Given the description of an element on the screen output the (x, y) to click on. 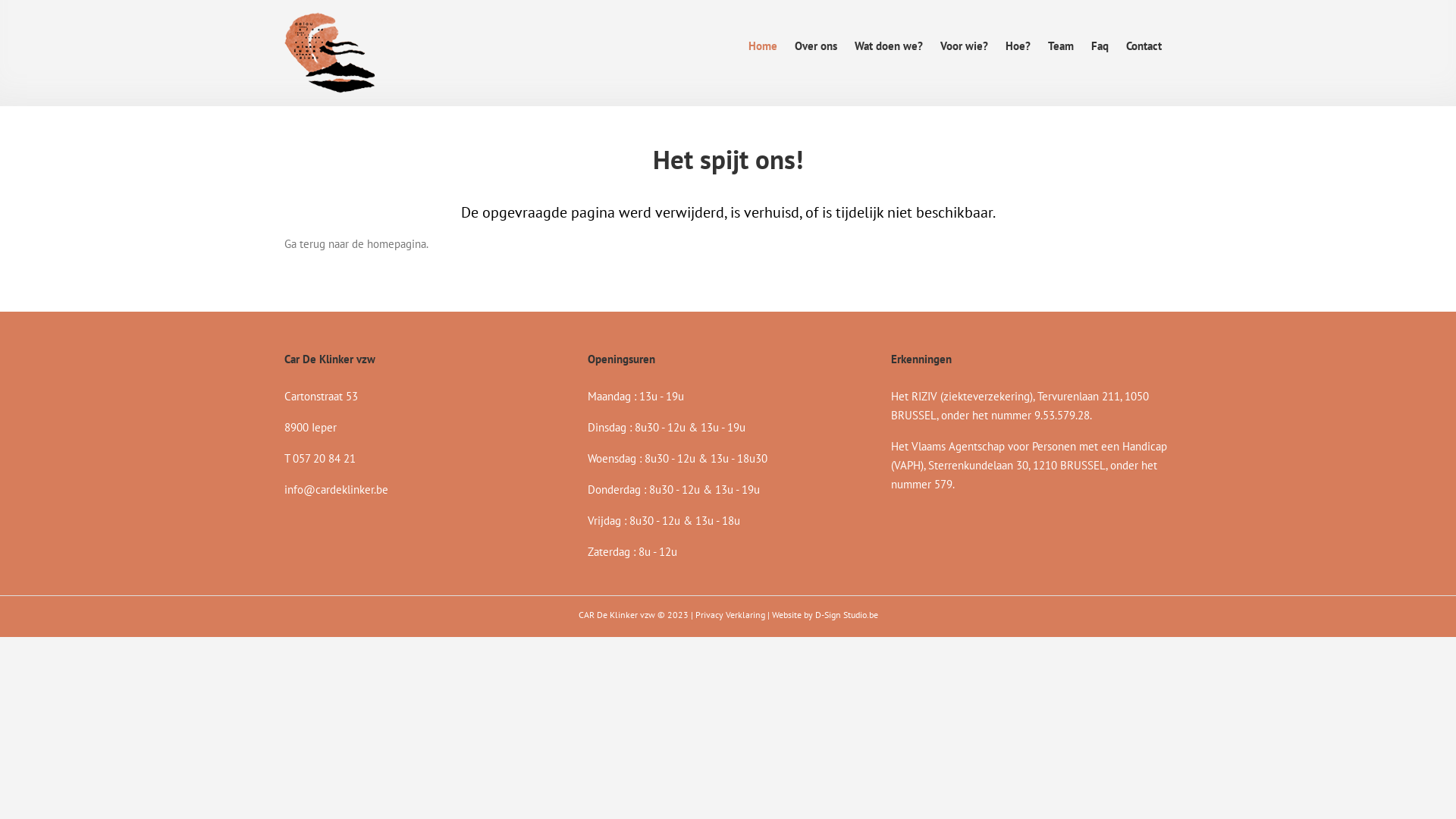
Over ons Element type: text (815, 45)
Home Element type: text (762, 45)
D-Sign Studio.be Element type: text (845, 614)
homepagina Element type: text (396, 243)
info@cardeklinker.be Element type: text (336, 489)
Hoe? Element type: text (1017, 45)
Faq Element type: text (1099, 45)
Voor wie? Element type: text (964, 45)
Contact Element type: text (1143, 45)
Privacy Verklaring Element type: text (729, 614)
Wat doen we? Element type: text (888, 45)
Team Element type: text (1060, 45)
Revalidatiecentrum De Klinker Ieper Element type: hover (329, 52)
